Given the description of an element on the screen output the (x, y) to click on. 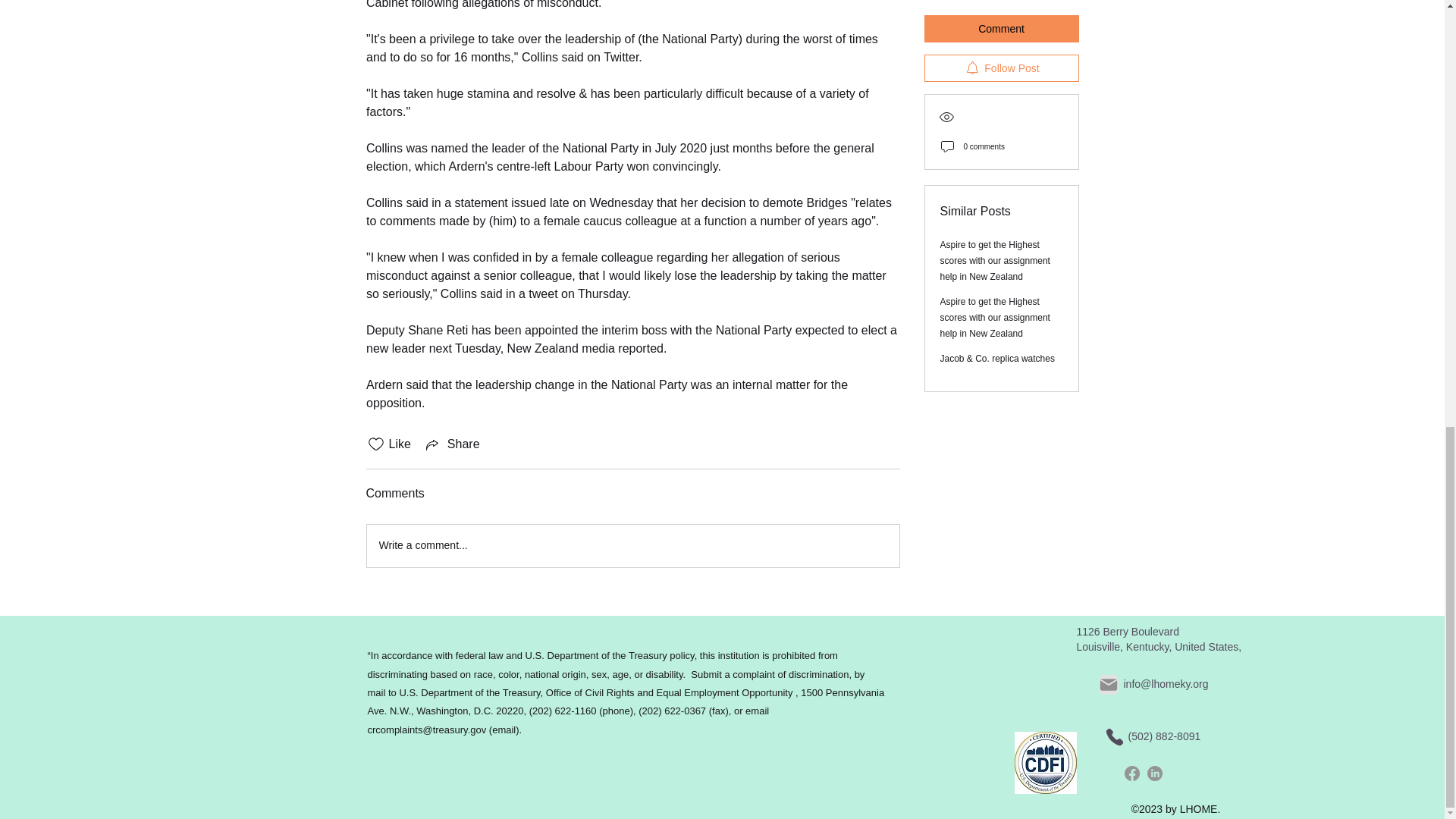
Write a comment... (632, 545)
Share (451, 443)
